Given the description of an element on the screen output the (x, y) to click on. 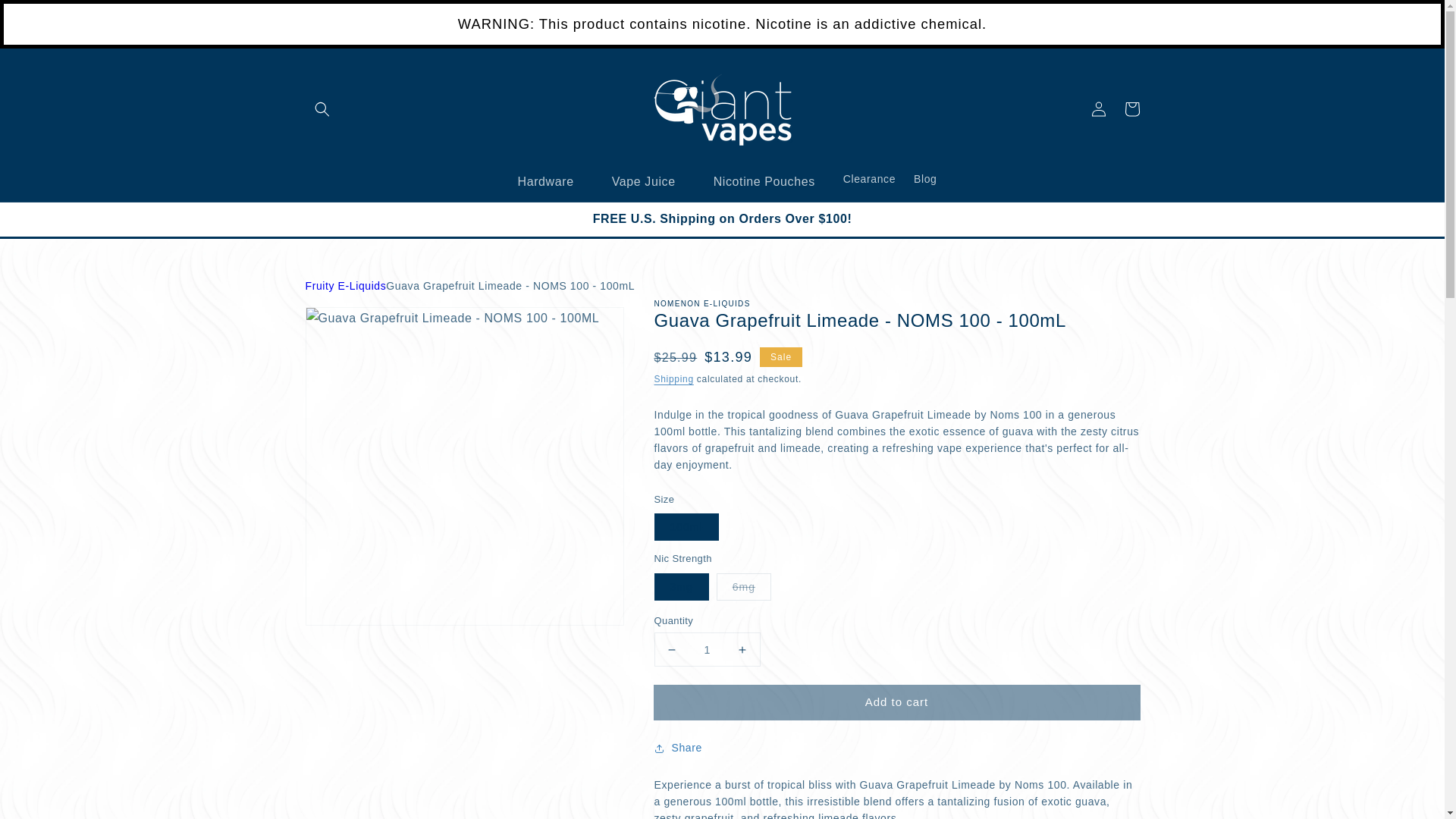
Guava Grapefruit Limeade - NOMS 100 - 100mL (509, 285)
1 (706, 649)
Skip to content (45, 16)
Fruity E-Liquids (344, 285)
